Given the description of an element on the screen output the (x, y) to click on. 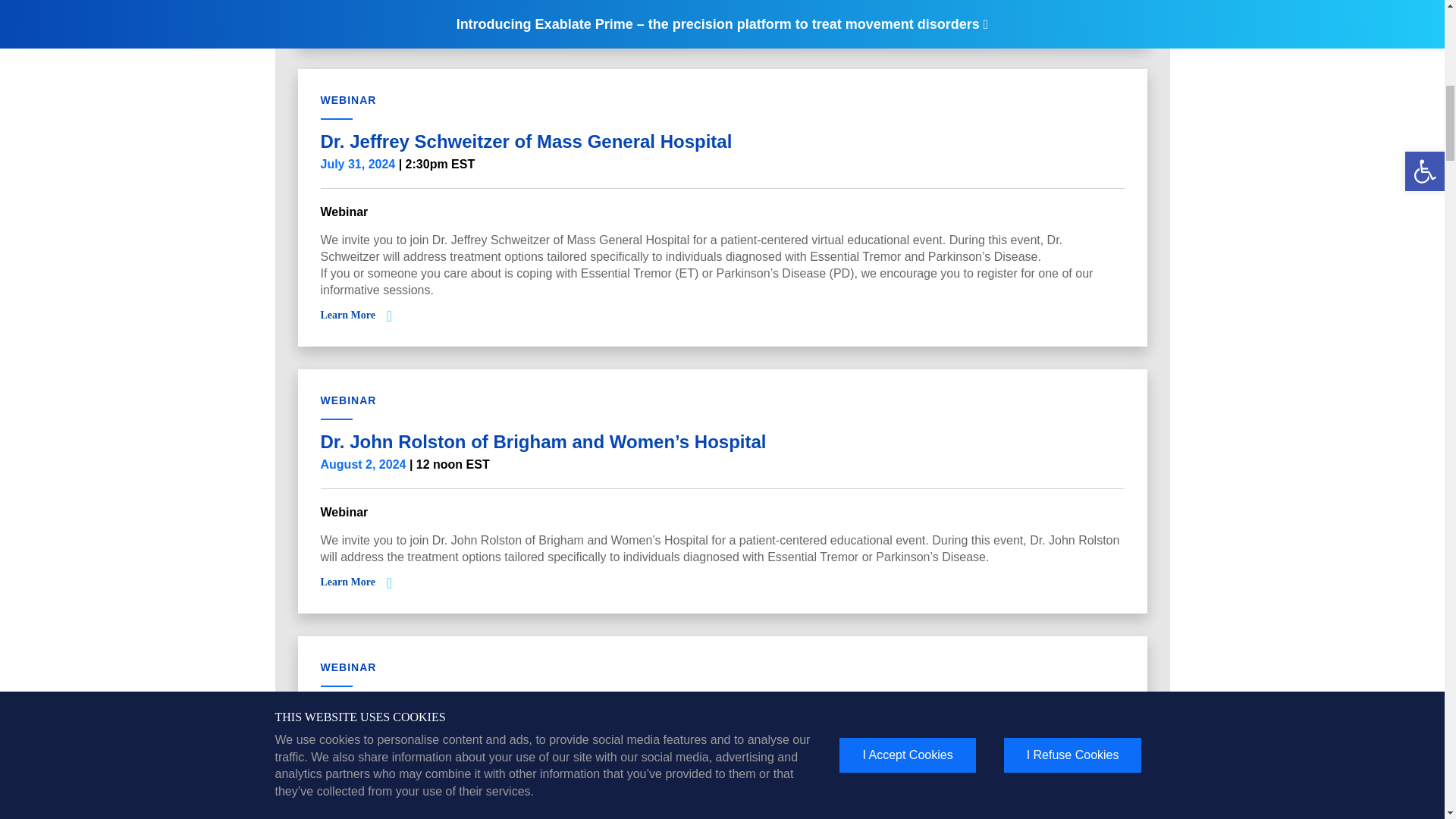
Learn More (347, 582)
Learn More (347, 14)
Learn More (347, 315)
